Given the description of an element on the screen output the (x, y) to click on. 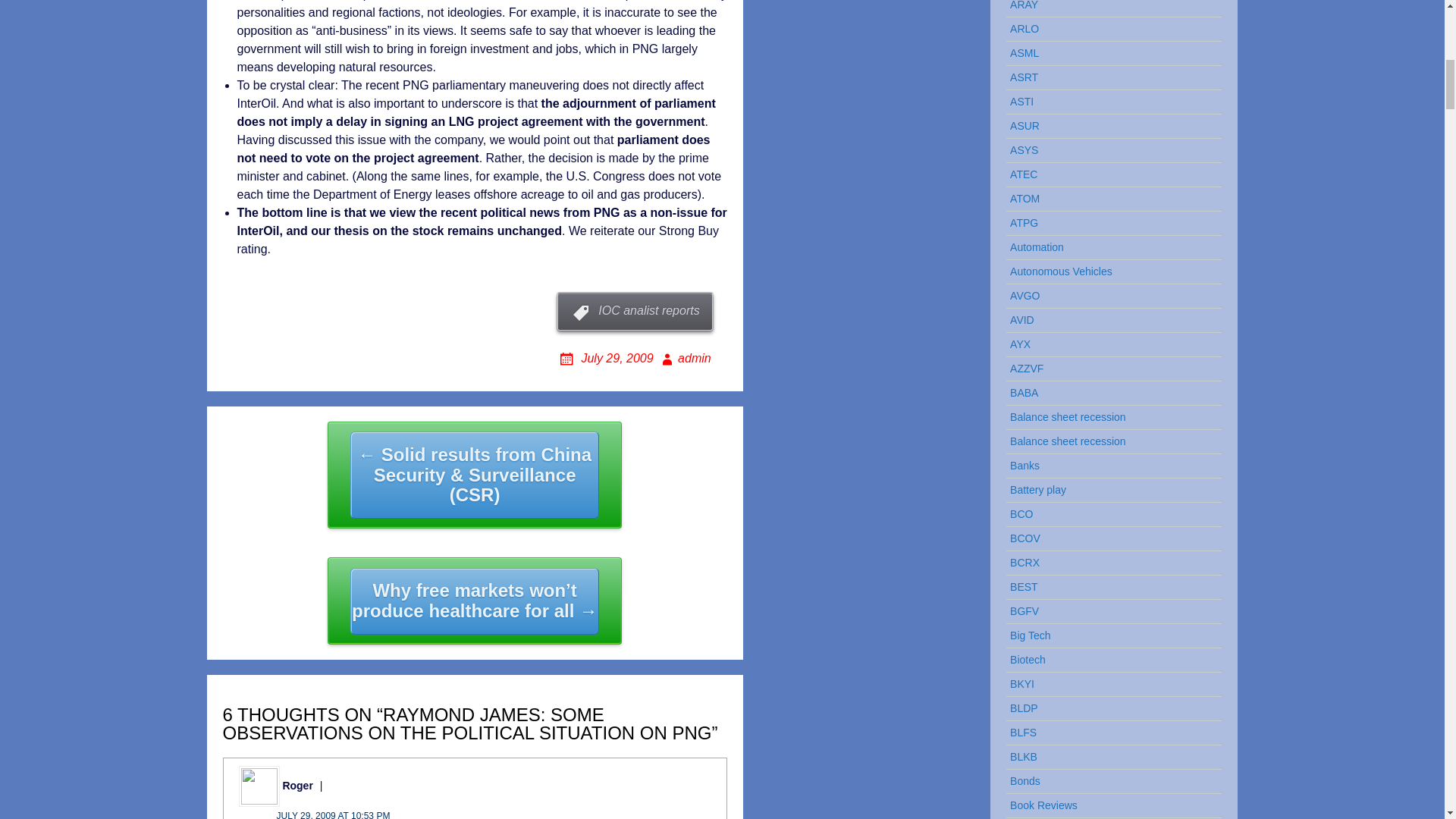
JULY 29, 2009 AT 10:53 PM (333, 814)
admin (683, 358)
admin (683, 358)
July 29, 2009 (606, 358)
IOC analist reports (634, 311)
July 29, 2009 (606, 358)
